Given the description of an element on the screen output the (x, y) to click on. 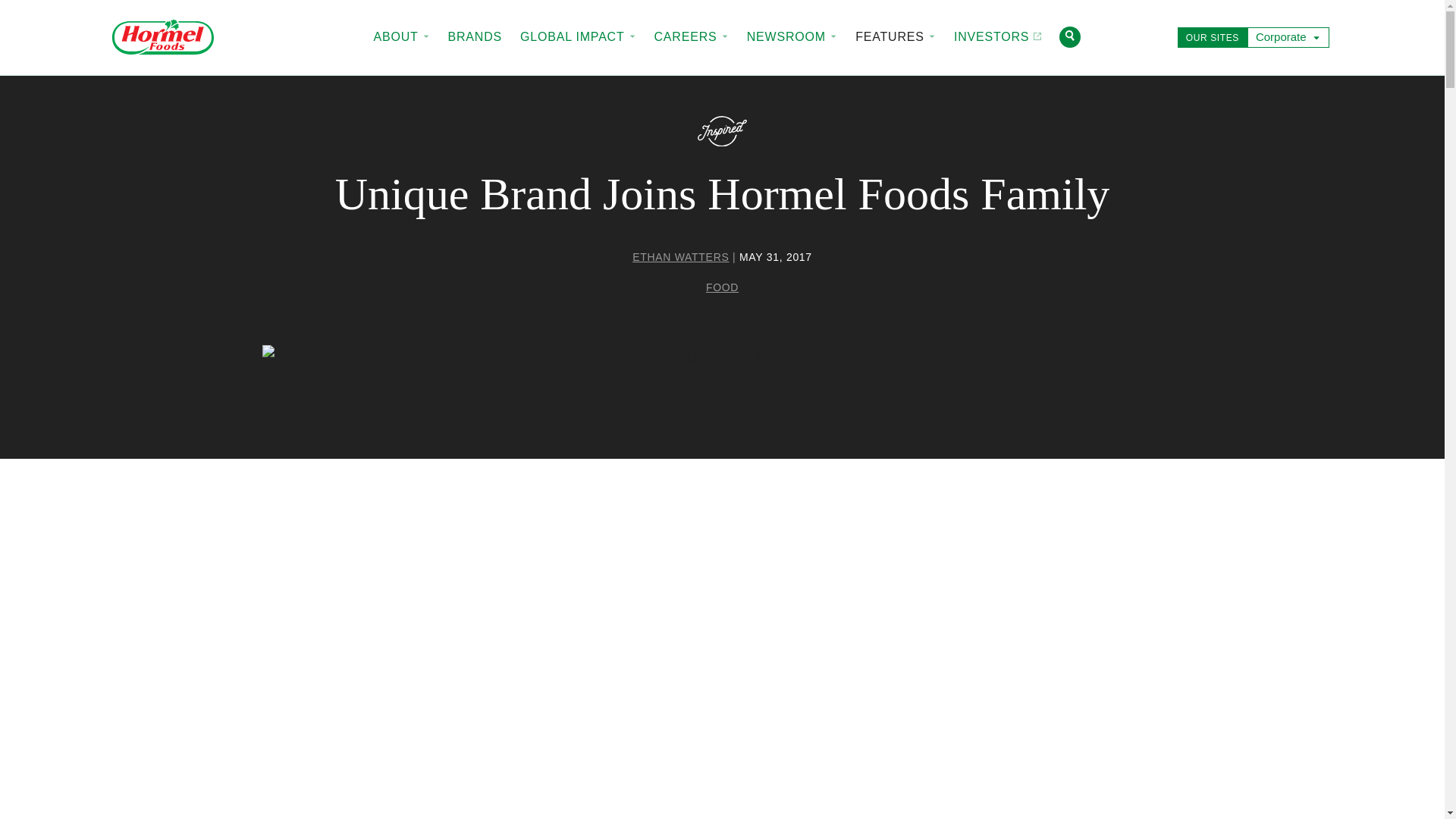
ABOUT (401, 37)
BRANDS (475, 37)
Corporate (1287, 36)
GLOBAL IMPACT (578, 37)
CAREERS (690, 37)
